Given the description of an element on the screen output the (x, y) to click on. 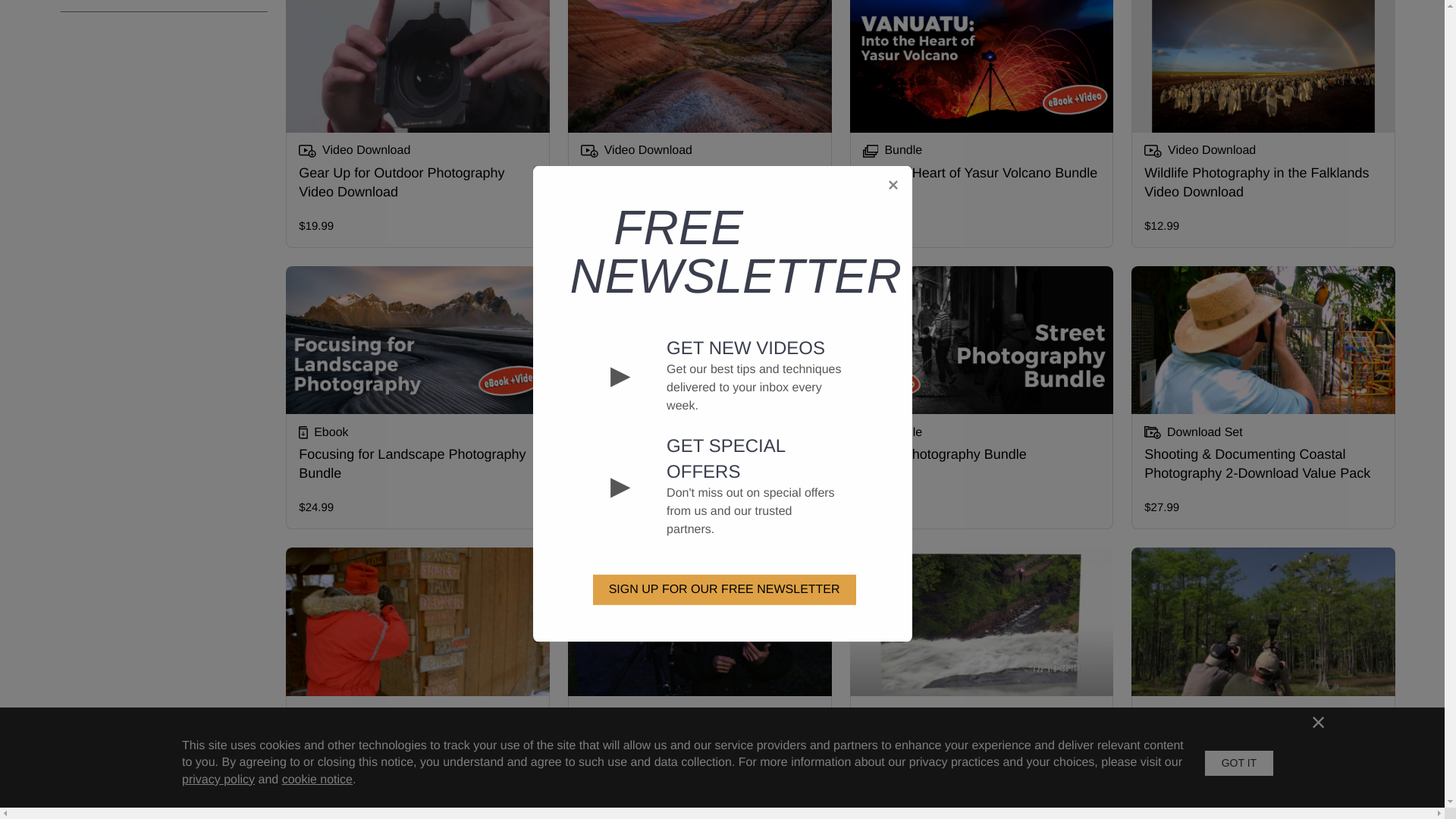
Into the Heart of Yasur Volcano Bundle (981, 123)
Photographing the Badlands Video Download (699, 123)
Gear Up for Outdoor Photography Video Download (417, 123)
Wildlife Photography in the Falklands Video Download (1262, 123)
